Given the description of an element on the screen output the (x, y) to click on. 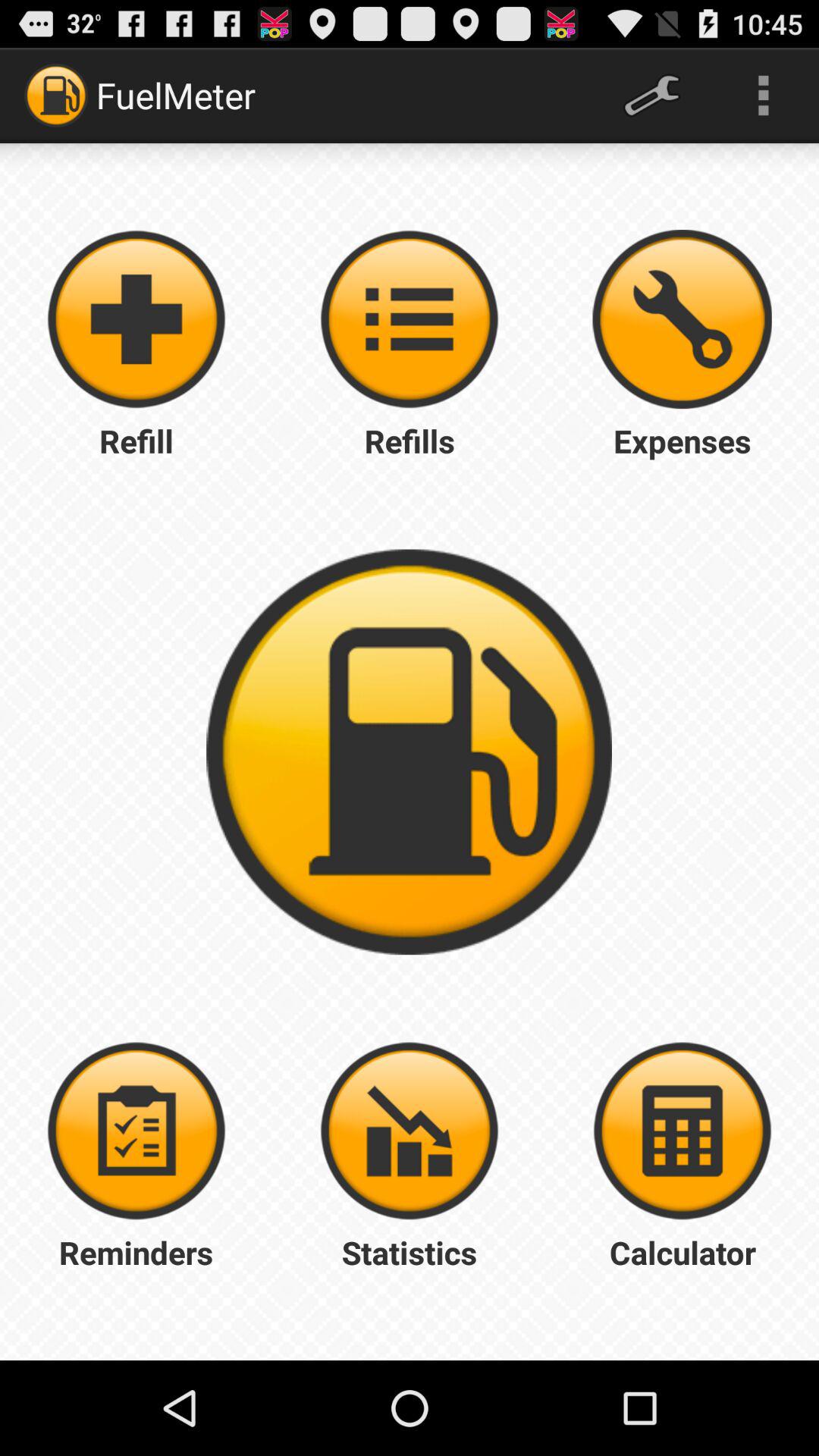
tap the app above the statistics icon (409, 1130)
